Given the description of an element on the screen output the (x, y) to click on. 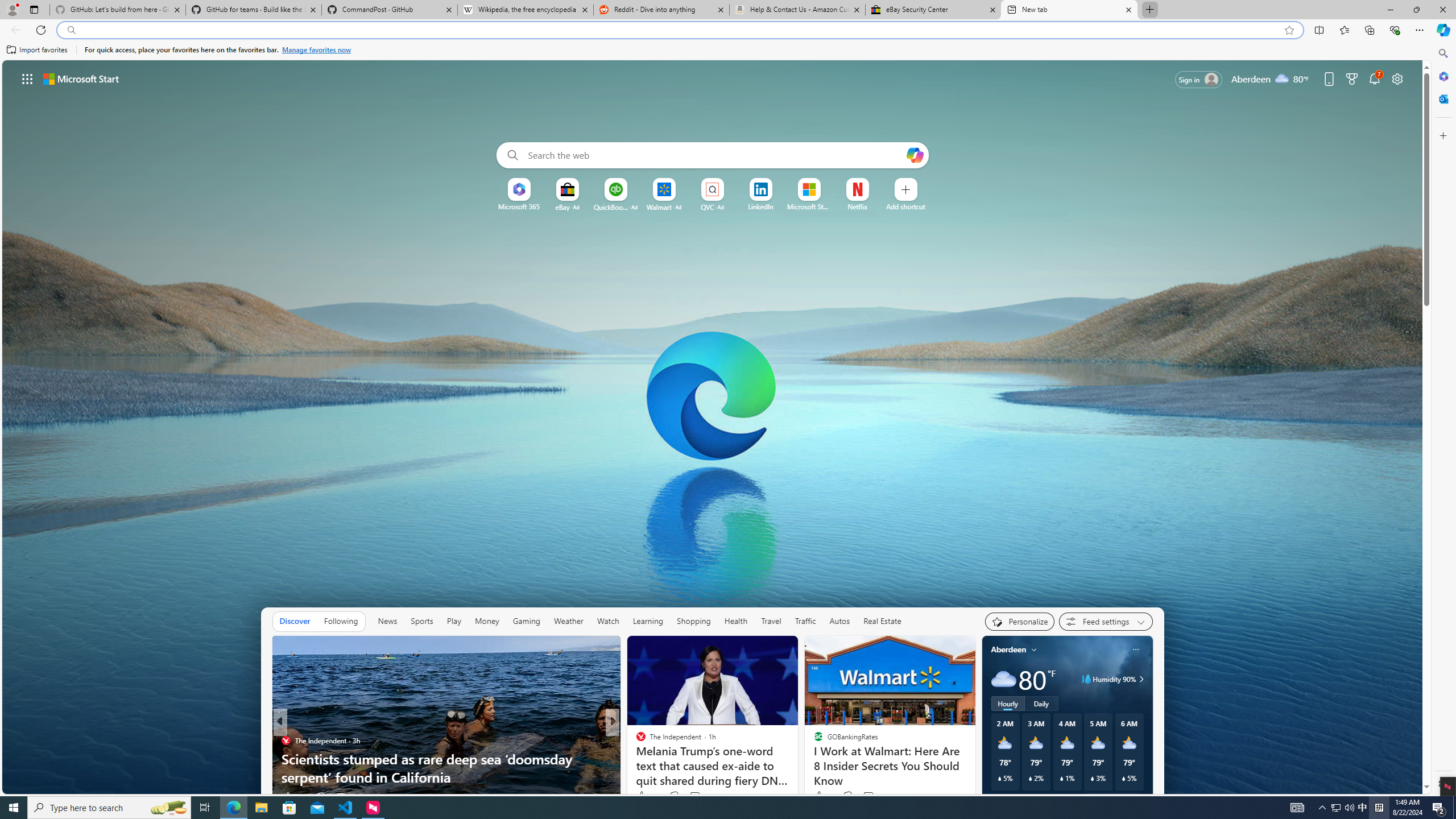
176 Like (643, 796)
Aberdeen (1008, 649)
View comments 21 Comment (691, 797)
Page settings (1397, 78)
Personalize your feed" (1019, 621)
See full forecast (1112, 799)
Class: weather-current-precipitation-glyph (1123, 778)
